Given the description of an element on the screen output the (x, y) to click on. 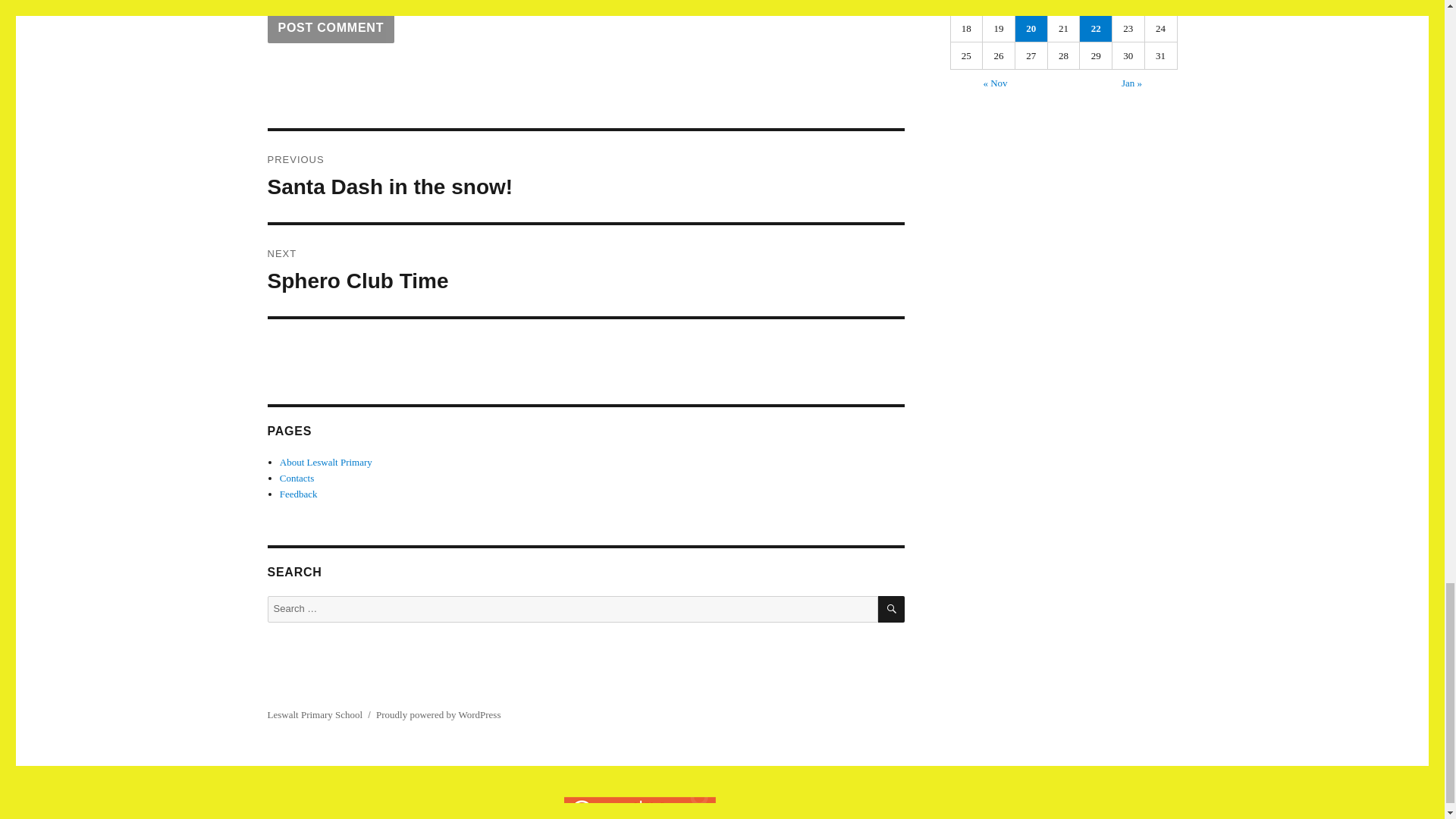
About Leswalt Primary (325, 461)
Contacts (296, 478)
SEARCH (585, 176)
Feedback (890, 609)
Post Comment (298, 493)
Post Comment (330, 27)
